Given the description of an element on the screen output the (x, y) to click on. 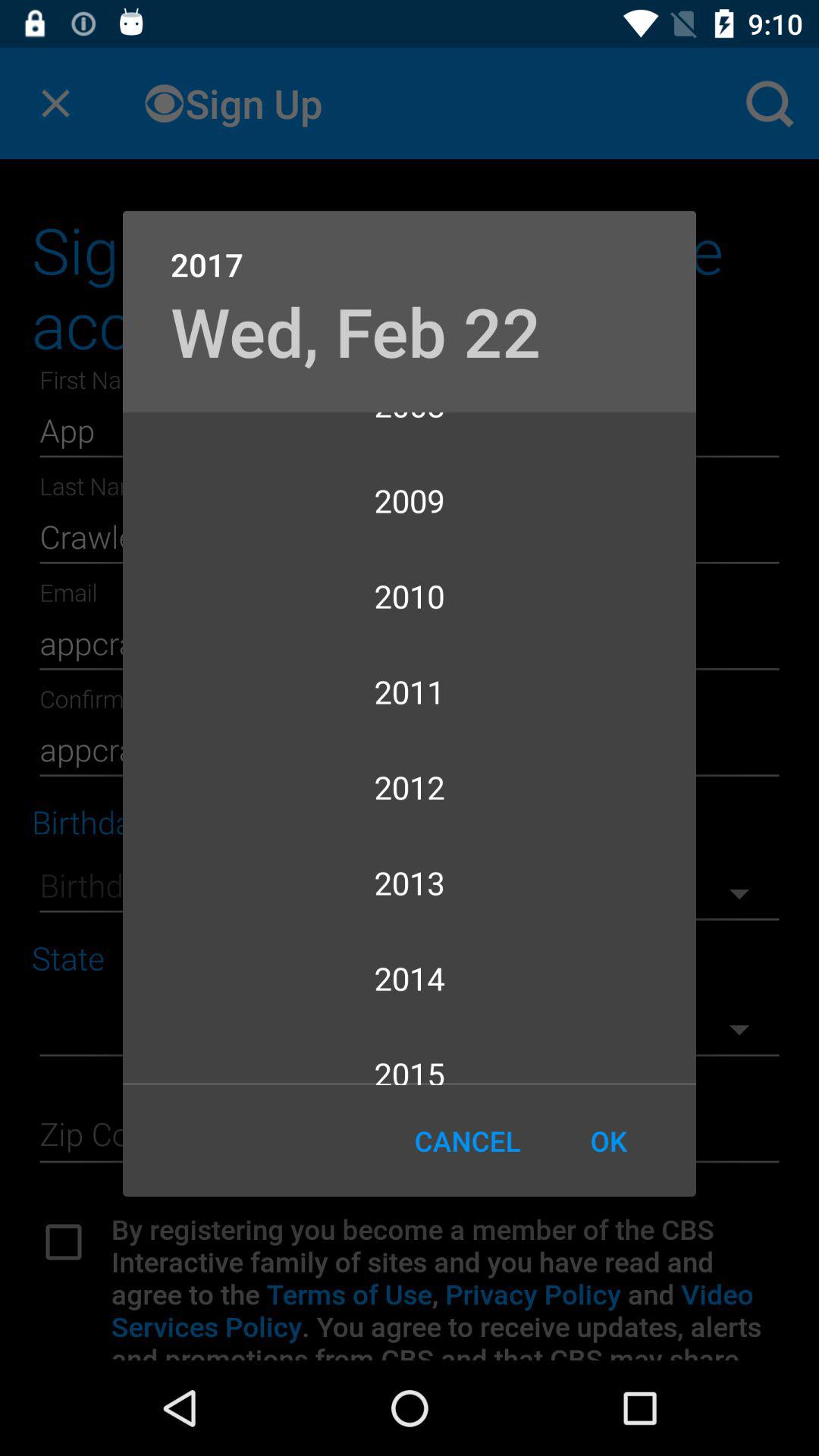
select icon below 2015 icon (467, 1140)
